Given the description of an element on the screen output the (x, y) to click on. 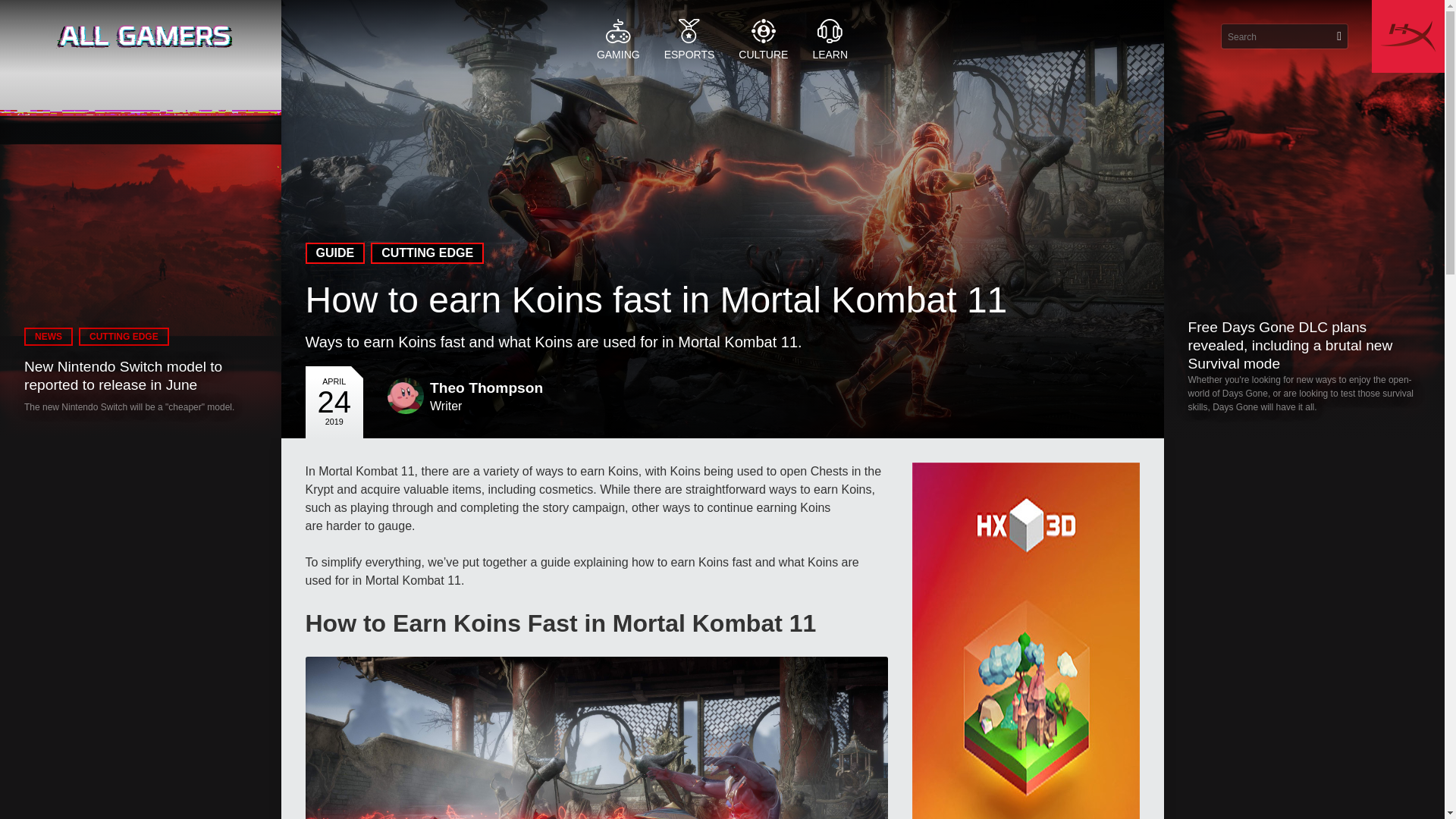
NEWS (48, 336)
CULTURE (762, 36)
GAMING (618, 36)
CUTTING EDGE (123, 336)
GUIDE (334, 252)
LEARN (829, 36)
ESPORTS (689, 36)
CUTTING EDGE (427, 252)
